Given the description of an element on the screen output the (x, y) to click on. 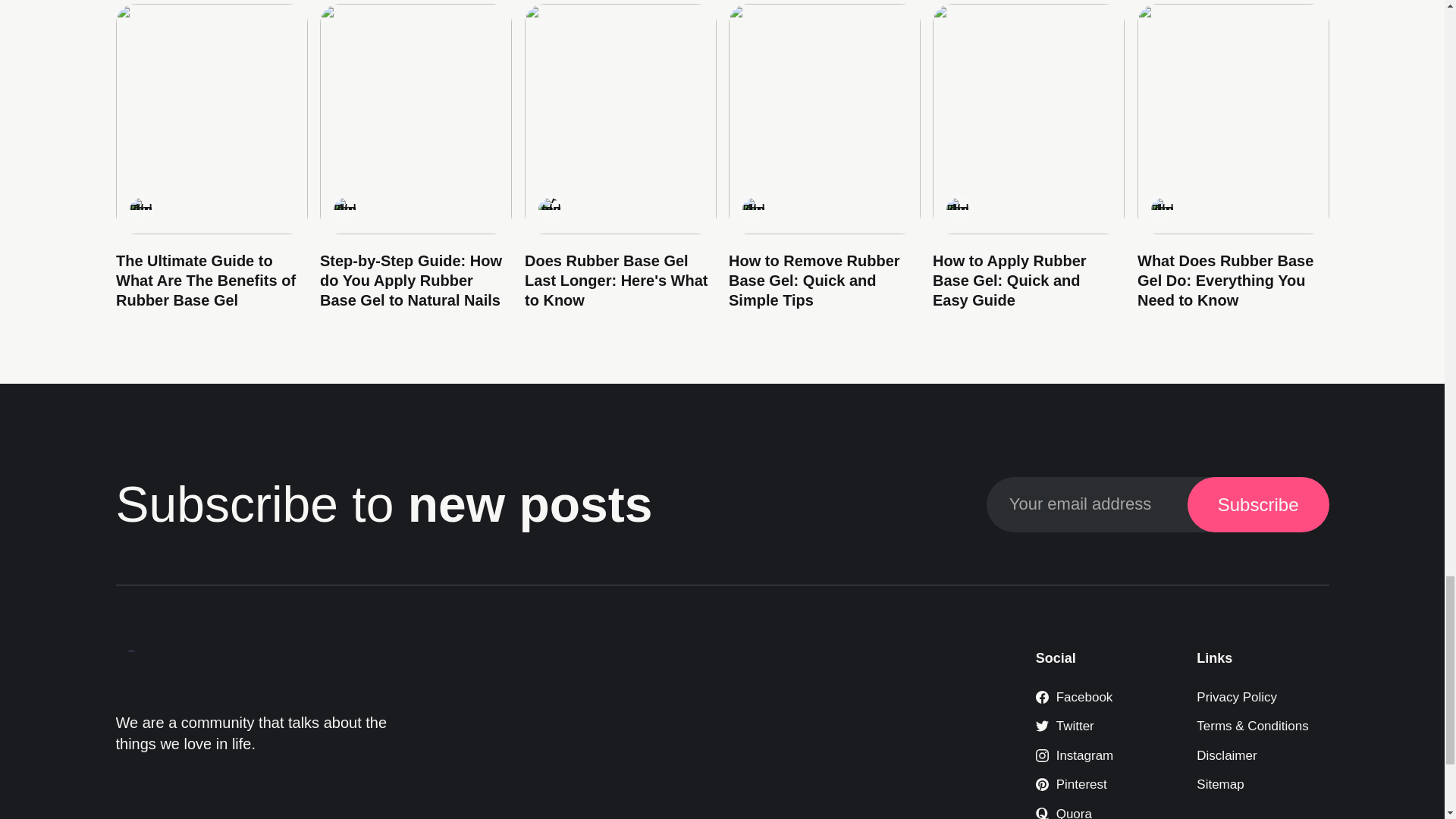
Facebook (1074, 697)
Raihan Uddin (140, 209)
Amzad Hossain (548, 209)
Raihan Uddin (344, 209)
Instagram (1074, 755)
Does Rubber Base Gel Last Longer: Here's What to Know (615, 279)
How to Apply Rubber Base Gel: Quick and Easy Guide (1009, 279)
What Does Rubber Base Gel Do: Everything You Need to Know (1225, 279)
How to Remove Rubber Base Gel: Quick and Simple Tips (813, 279)
Raihan Uddin (752, 209)
Raihan Uddin (1161, 209)
Raihan Uddin (957, 209)
Subscribe (1258, 504)
